Given the description of an element on the screen output the (x, y) to click on. 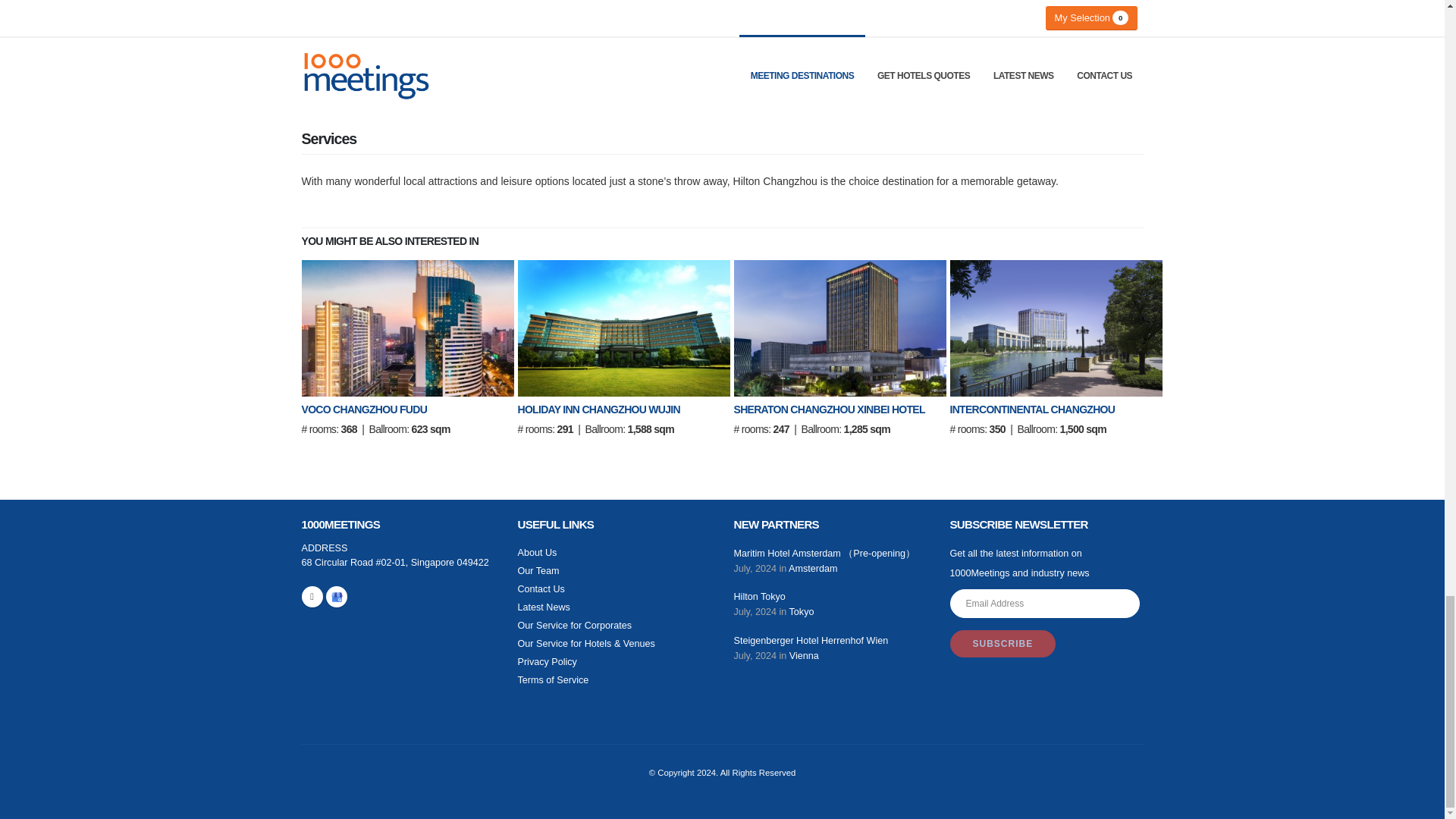
Linkedin (336, 596)
Linkedin (312, 596)
Subscribe (1002, 643)
